Given the description of an element on the screen output the (x, y) to click on. 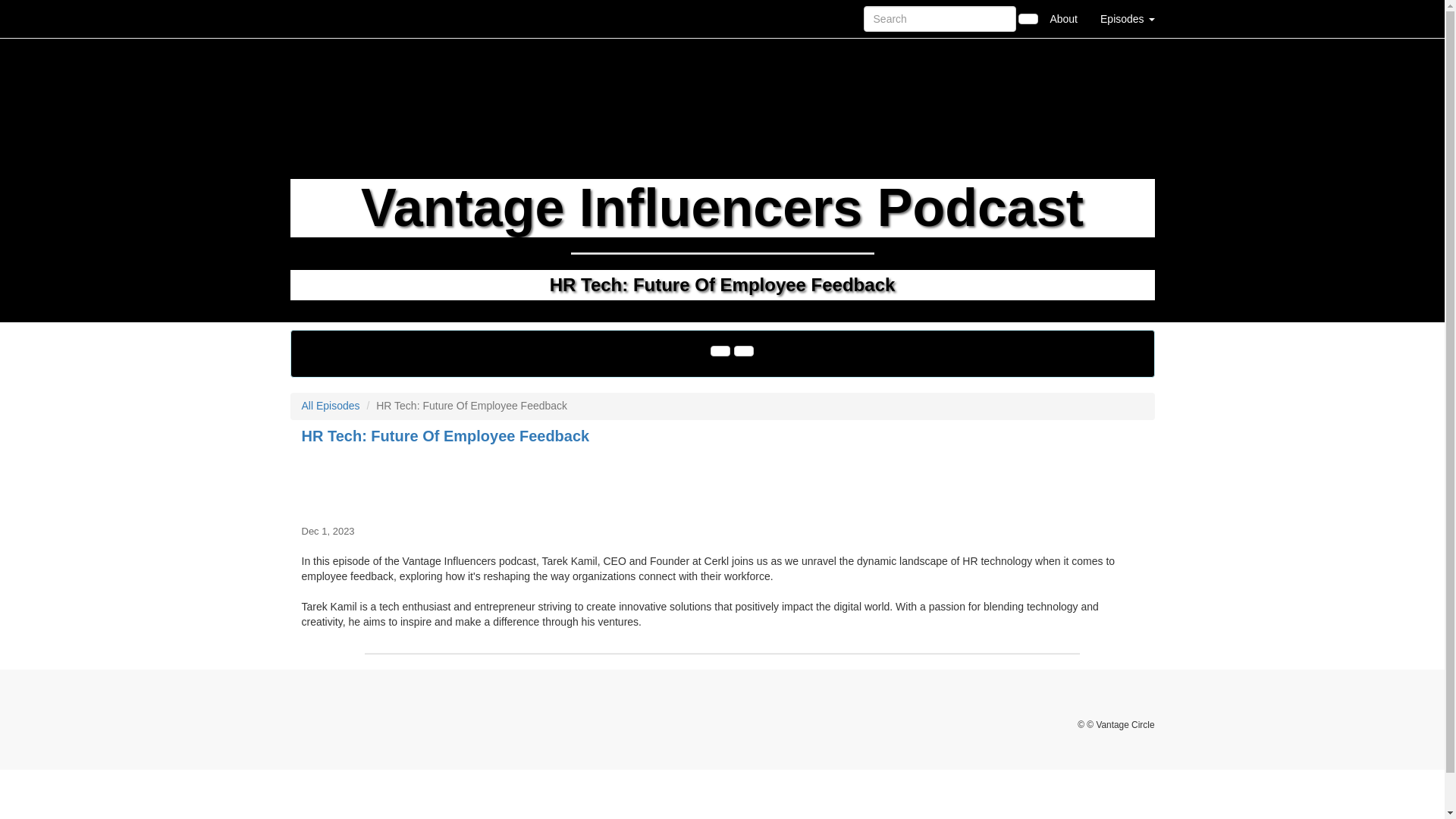
HR Tech: Future Of Employee Feedback (721, 481)
Home Page (320, 18)
About (1063, 18)
Episodes (1127, 18)
